Given the description of an element on the screen output the (x, y) to click on. 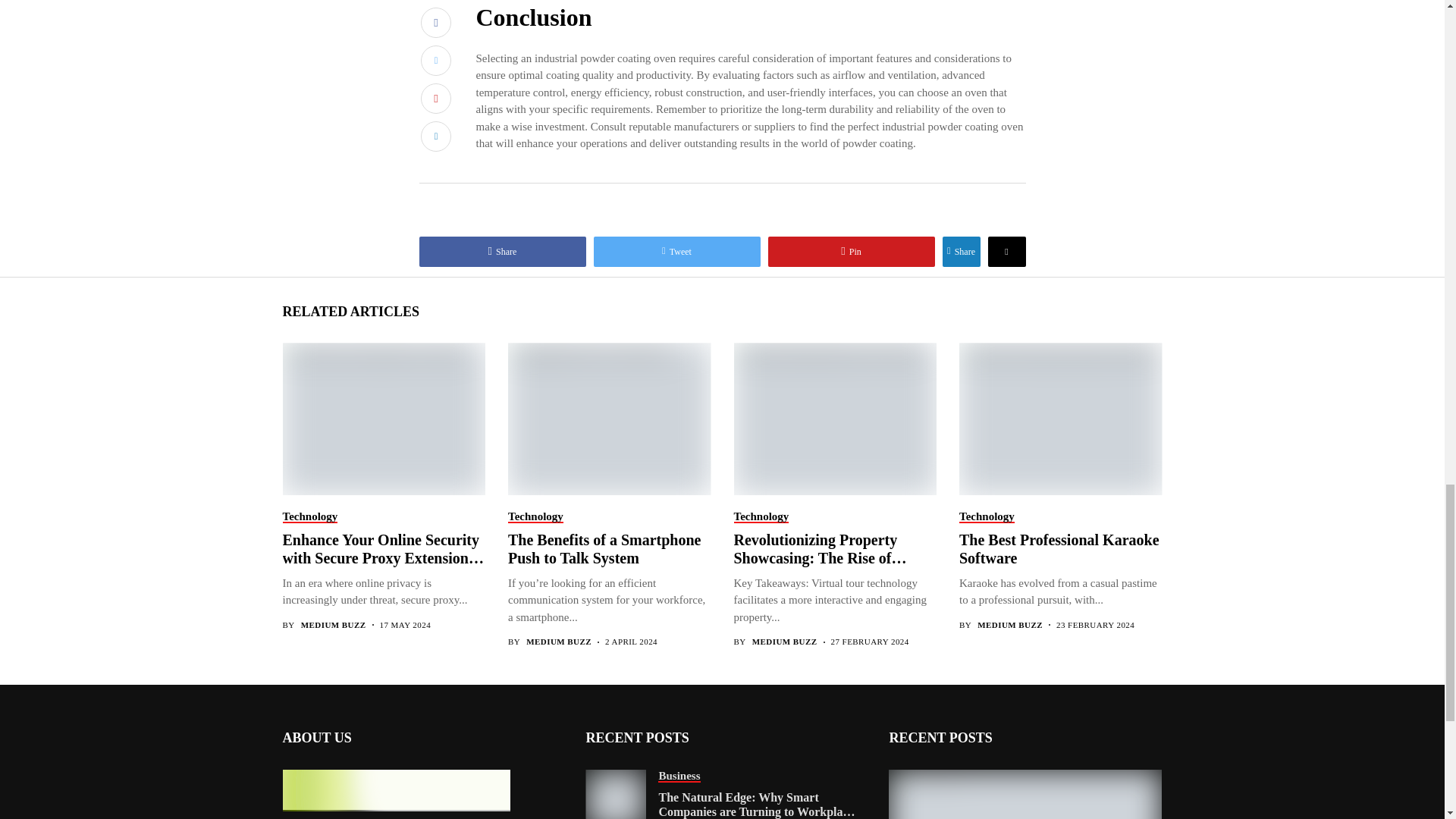
Posts by Medium Buzz (784, 642)
Posts by Medium Buzz (333, 624)
Posts by Medium Buzz (558, 642)
Posts by Medium Buzz (1009, 624)
